Given the description of an element on the screen output the (x, y) to click on. 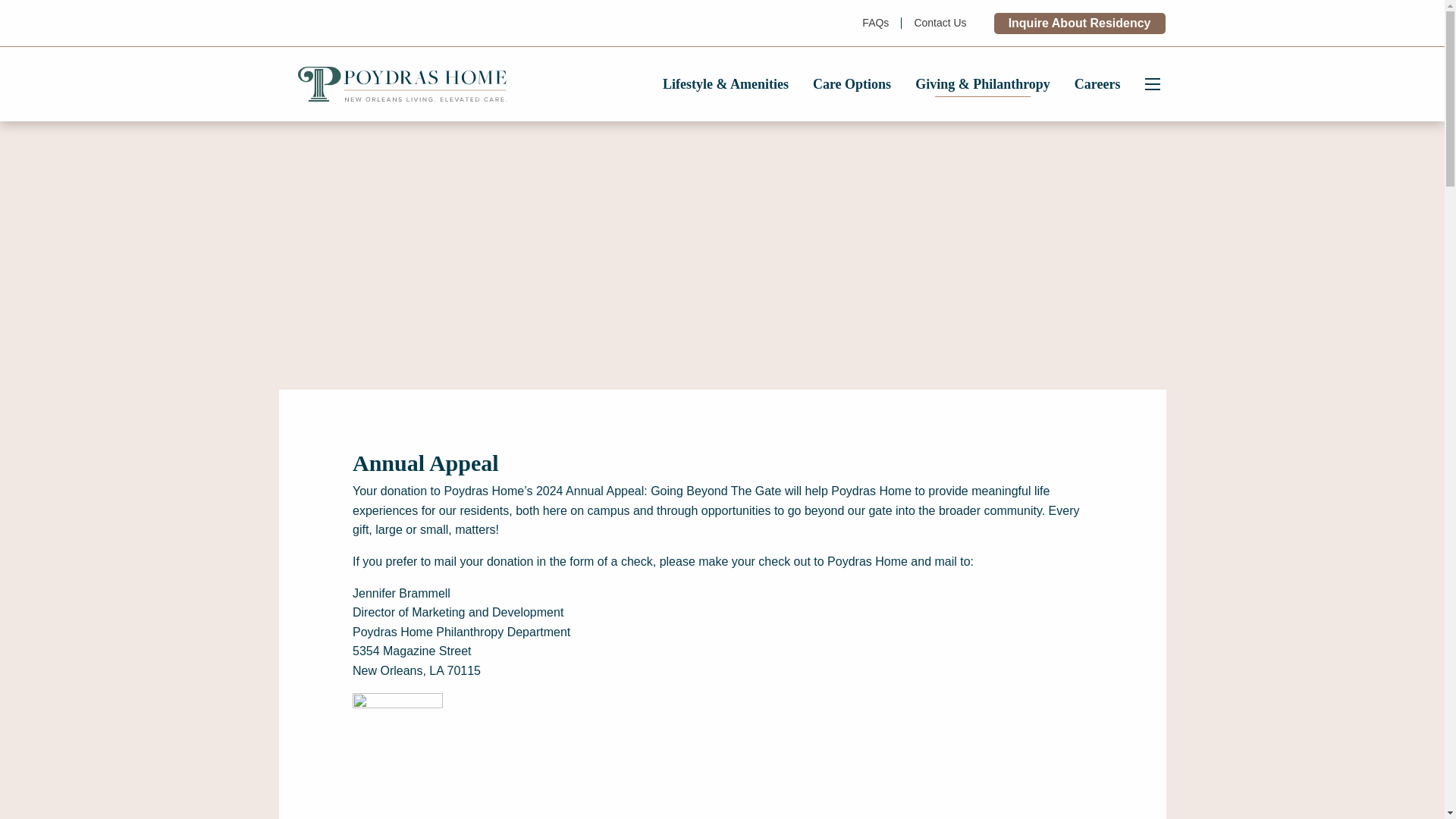
Poydras Home (401, 84)
